Given the description of an element on the screen output the (x, y) to click on. 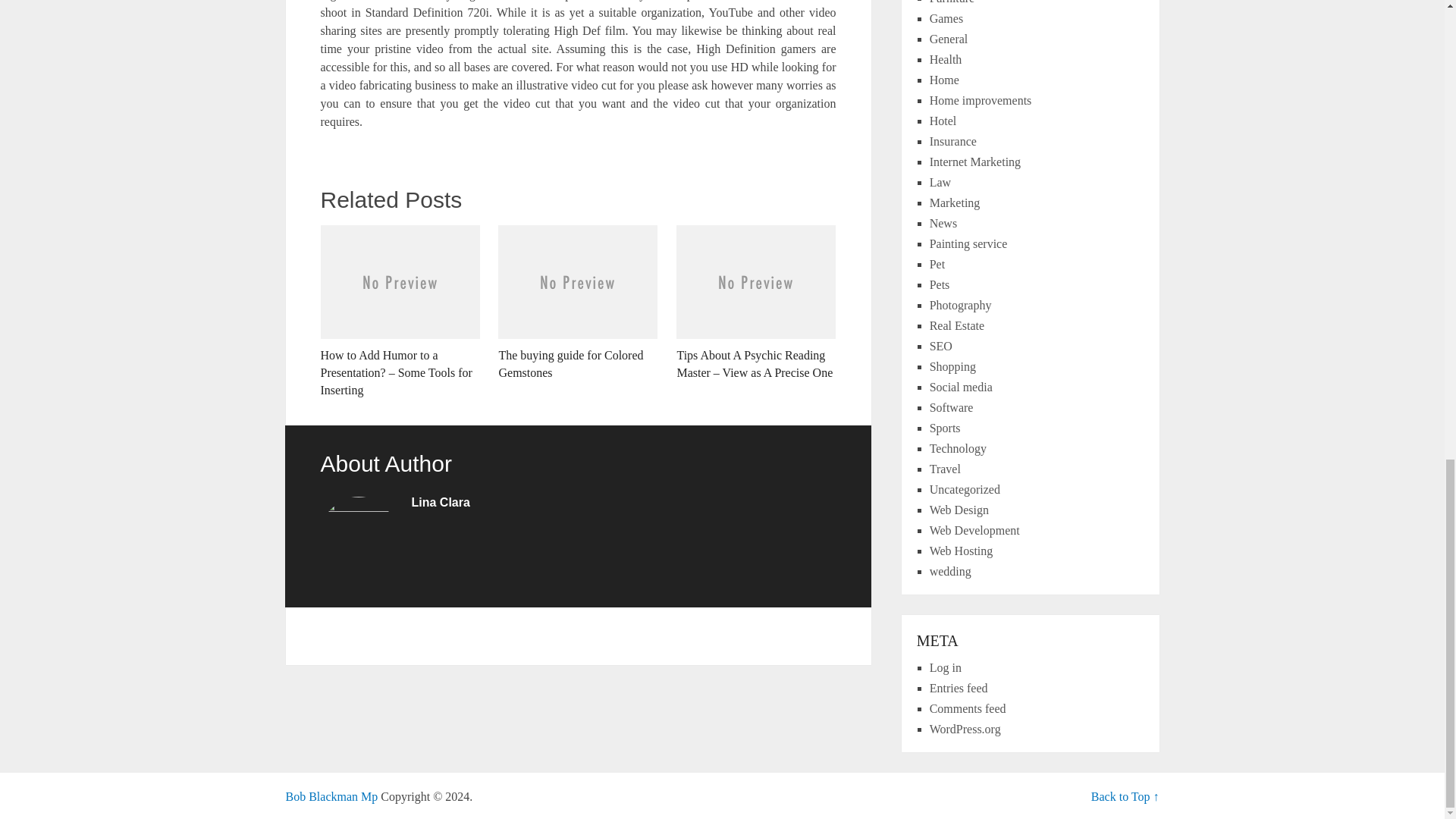
General (949, 38)
Games (946, 18)
The buying guide for Colored Gemstones (577, 303)
Furniture (952, 2)
Health (946, 59)
The buying guide for Colored Gemstones (577, 303)
Home (944, 79)
